Given the description of an element on the screen output the (x, y) to click on. 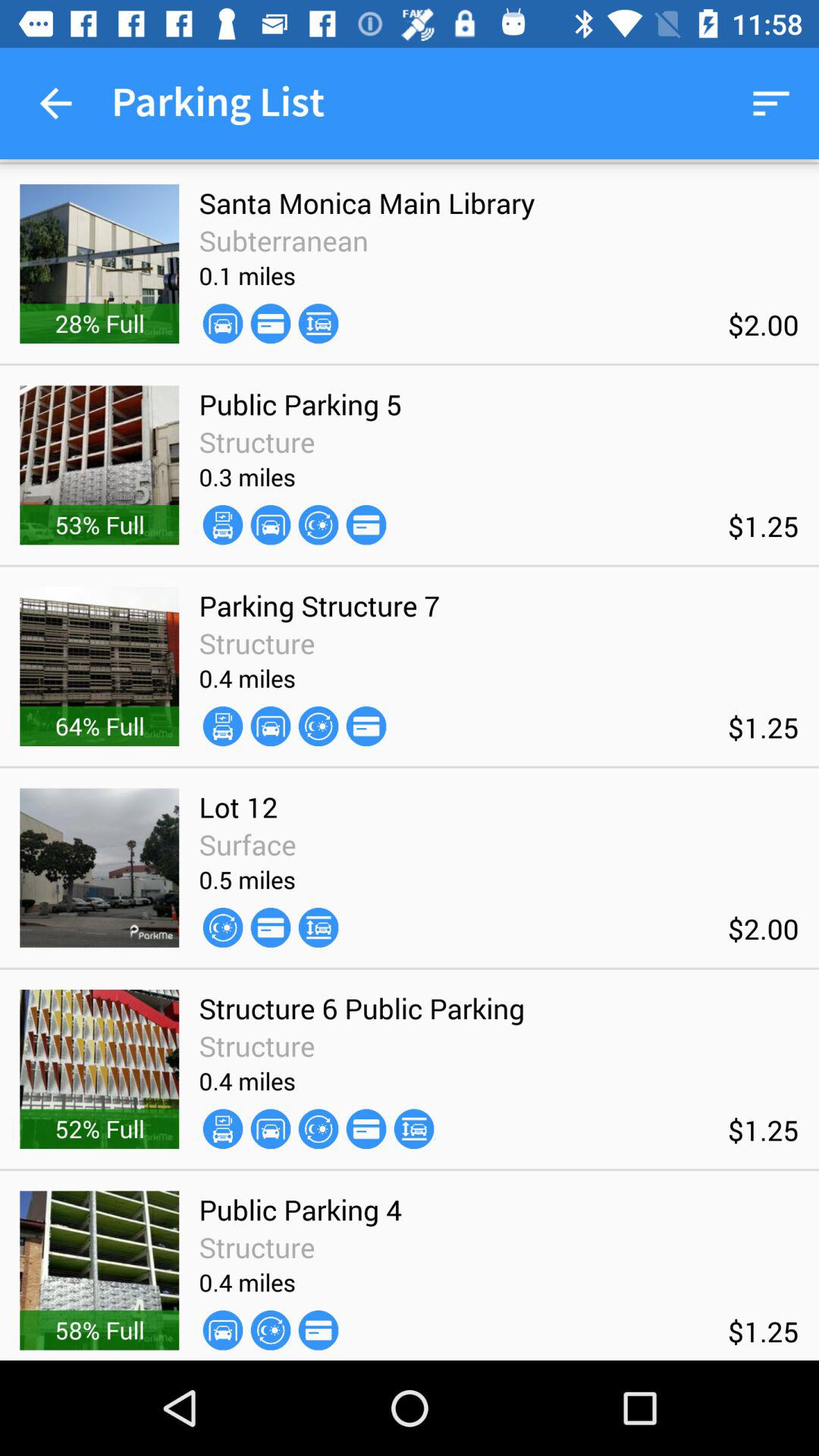
select icon to the right of the 0.4 miles icon (318, 726)
